Given the description of an element on the screen output the (x, y) to click on. 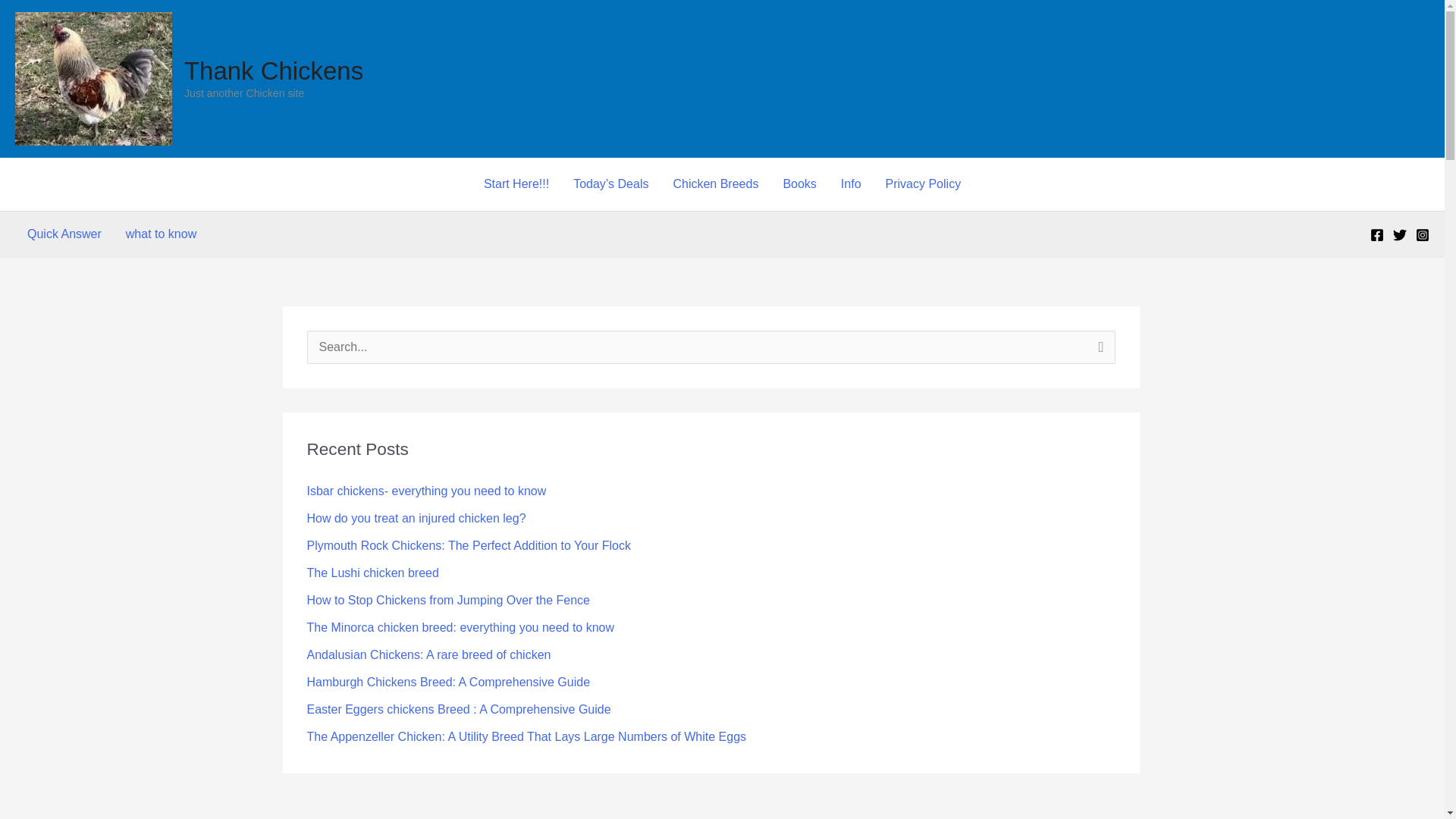
Thank Chickens (273, 70)
Chicken Breeds (715, 184)
How do you treat an injured chicken leg? (415, 517)
Easter Eggers chickens Breed : A Comprehensive Guide (457, 708)
what to know (160, 234)
How to Stop Chickens from Jumping Over the Fence (447, 599)
Start Here!!! (515, 184)
The Minorca chicken breed: everything you need to know (459, 626)
Plymouth Rock Chickens: The Perfect Addition to Your Flock (467, 545)
